Given the description of an element on the screen output the (x, y) to click on. 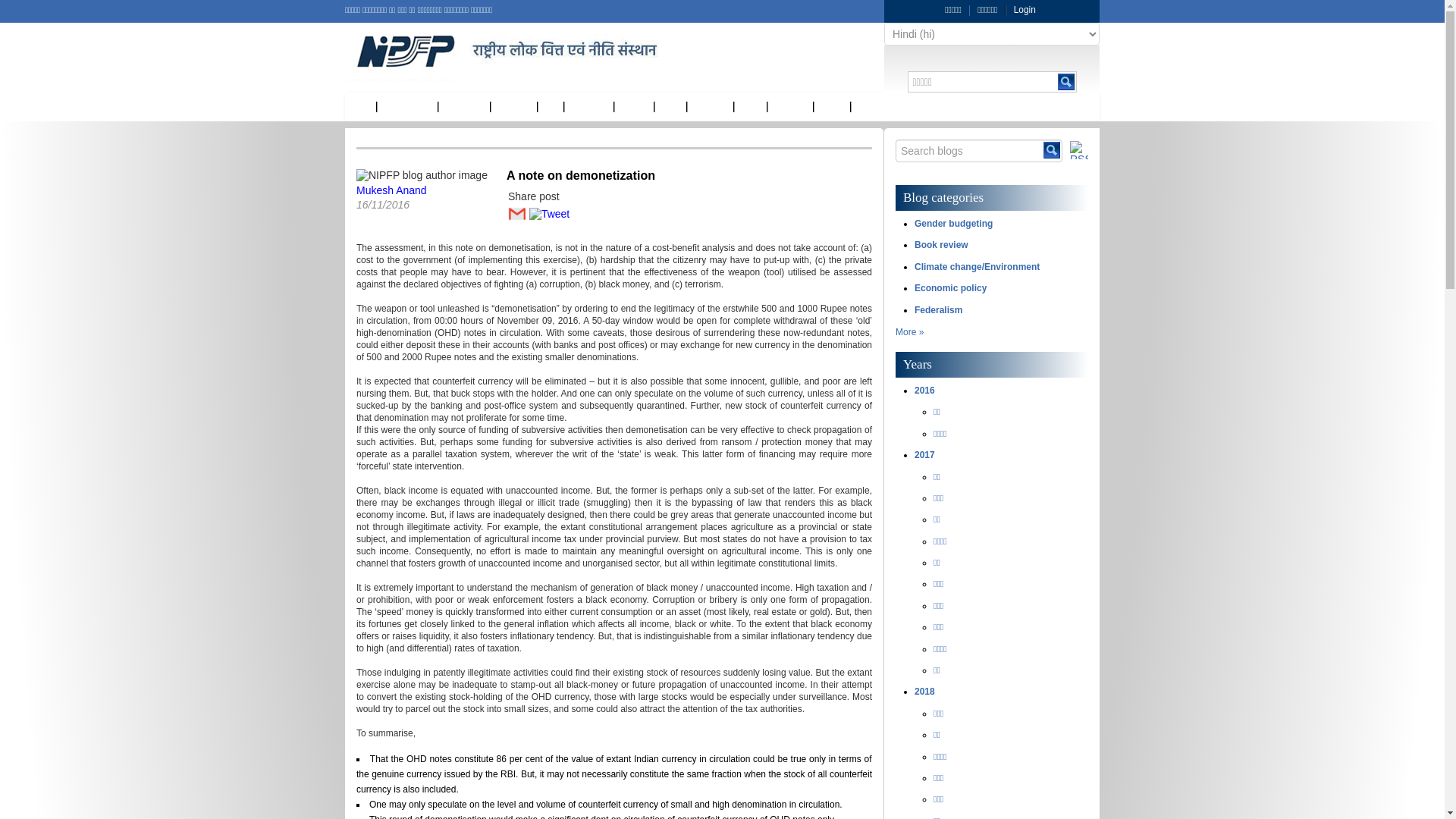
Login (1024, 9)
